Given the description of an element on the screen output the (x, y) to click on. 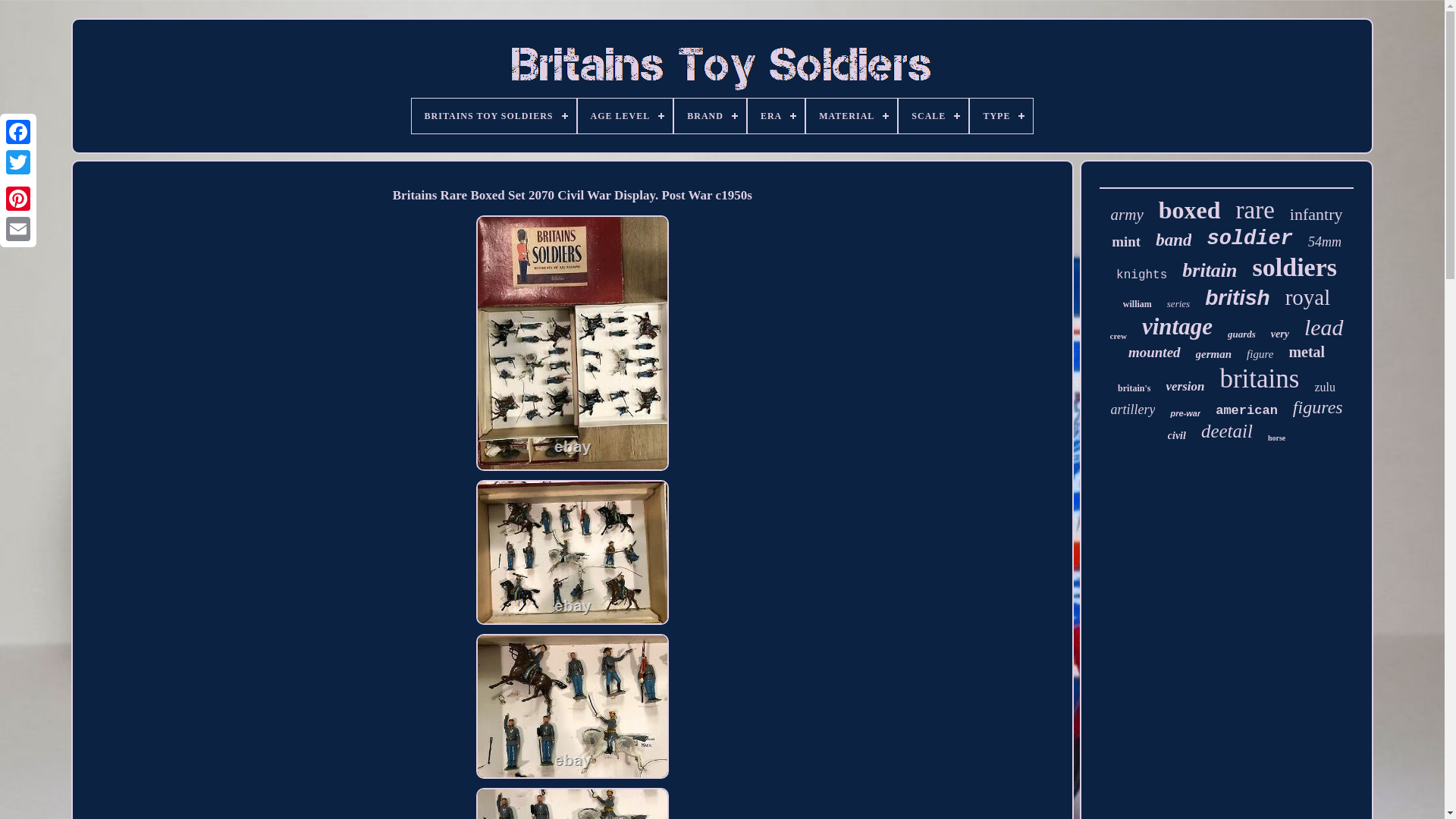
AGE LEVEL (625, 115)
BRAND (709, 115)
BRITAINS TOY SOLDIERS (494, 115)
ERA (776, 115)
